Given the description of an element on the screen output the (x, y) to click on. 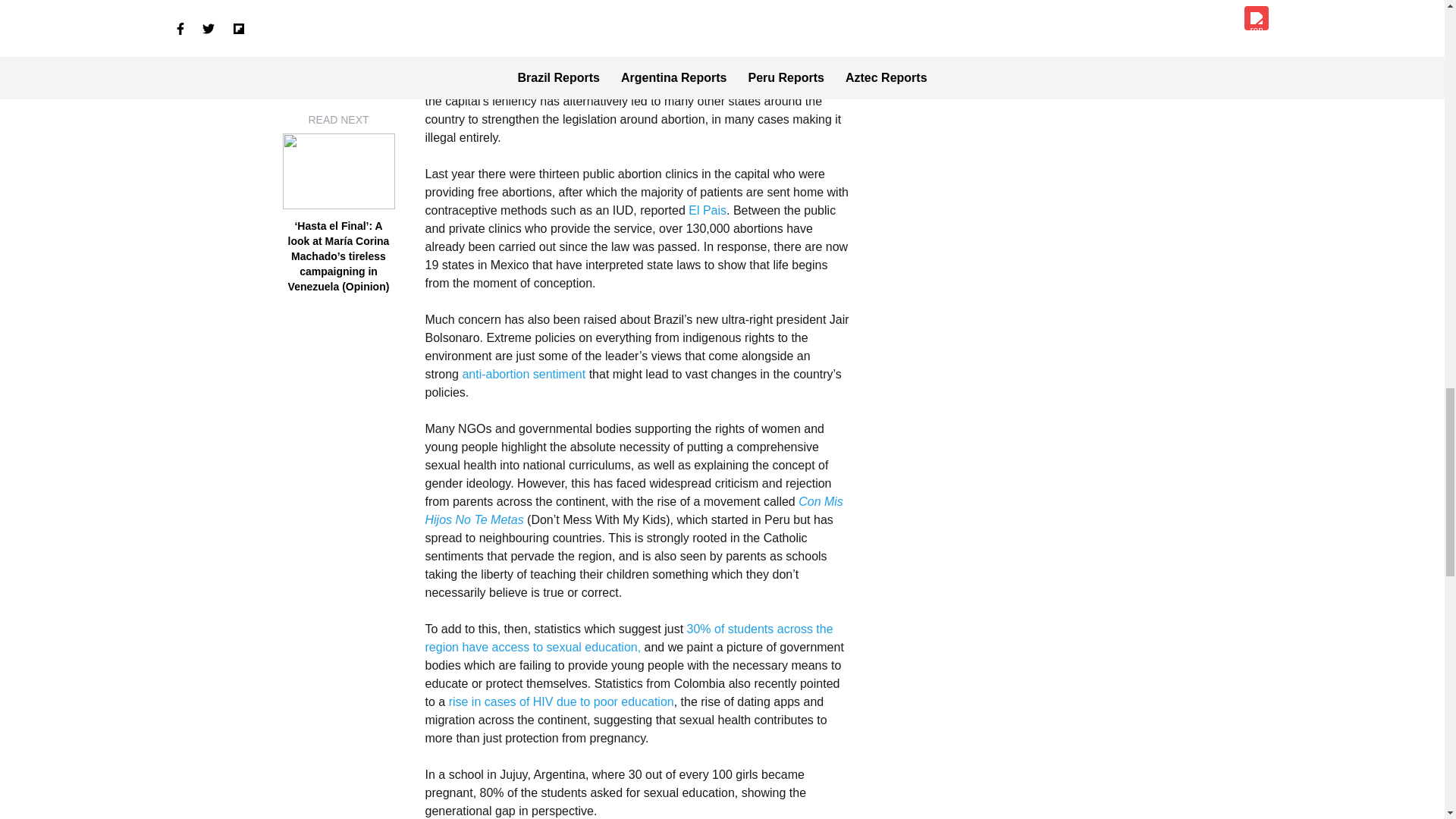
rise in cases of HIV due to poor education (561, 701)
clamp down on abortion rights (639, 82)
Con Mis Hijos No Te Metas  (634, 510)
El Pais (707, 210)
anti-abortion sentiment (523, 373)
